Given the description of an element on the screen output the (x, y) to click on. 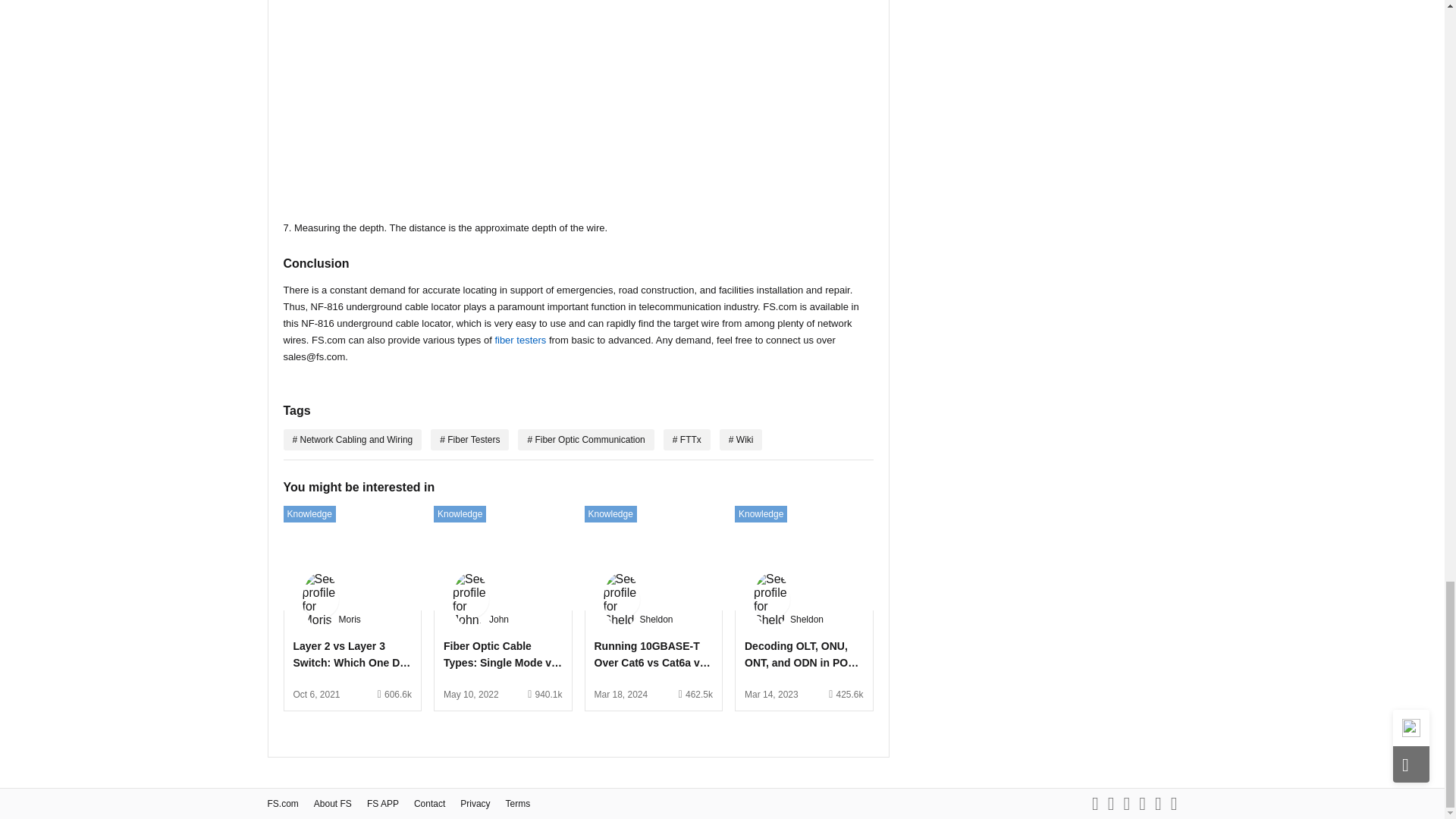
Wiki (740, 439)
Layer 2 vs Layer 3 Switch: Which One Do You Need? (351, 656)
Fiber Testers (469, 439)
Decoding OLT, ONU, ONT, and ODN in PON Network (803, 656)
Network Cabling and Wiring (352, 439)
FTTx (686, 439)
Running 10GBASE-T Over Cat6 vs Cat6a vs Cat7 Cabling? (653, 656)
Fiber Optic Communication (585, 439)
